Given the description of an element on the screen output the (x, y) to click on. 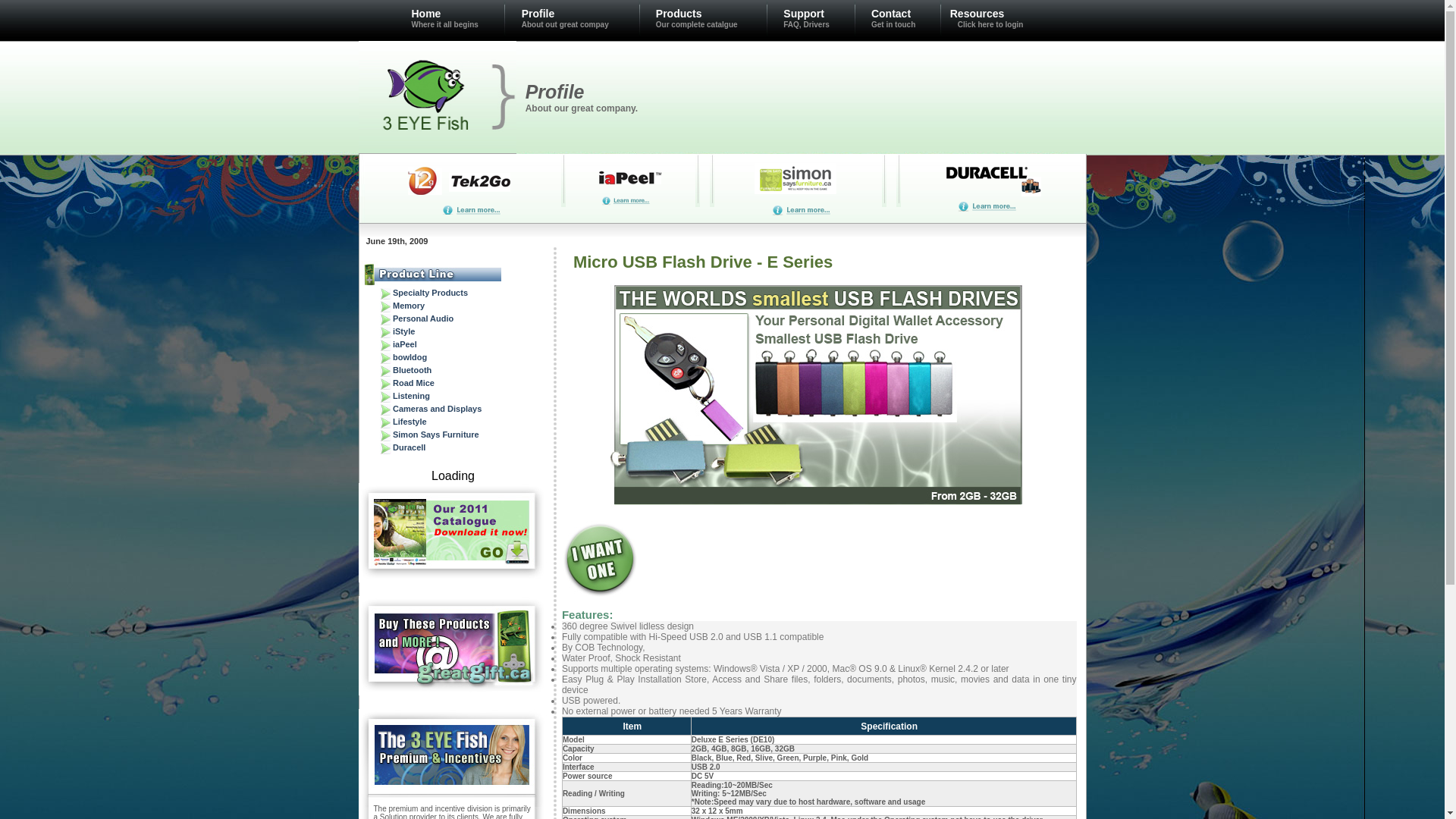
iStyle Element type: text (403, 330)
SimonSays Furniture Element type: hover (798, 210)
bowldog Element type: text (409, 356)
Our complete catalgue Element type: text (696, 24)
Road Mice Element type: text (413, 382)
Listening Element type: text (410, 395)
Support Element type: text (803, 9)
Contact Element type: text (890, 9)
FAQ, Drivers Element type: text (806, 24)
Duracell Element type: text (408, 446)
Lifestyle Element type: text (409, 421)
Where it all begins Element type: text (444, 24)
Watchs and Clocks Element type: hover (630, 218)
Specialty Products Element type: text (429, 292)
Bluetooth Element type: text (411, 369)
Home Element type: text (425, 9)
Get in touch Element type: text (893, 24)
Personal Audio Element type: text (422, 318)
iaPeel Element type: text (404, 343)
Profile Element type: text (538, 9)
Resources Element type: text (977, 13)
About out great compay Element type: text (564, 24)
Simon Says Furniture Element type: text (435, 434)
Click here to login Element type: text (990, 24)
Products Element type: text (678, 9)
Memory Element type: text (408, 305)
Cameras and Displays Element type: text (436, 408)
